Given the description of an element on the screen output the (x, y) to click on. 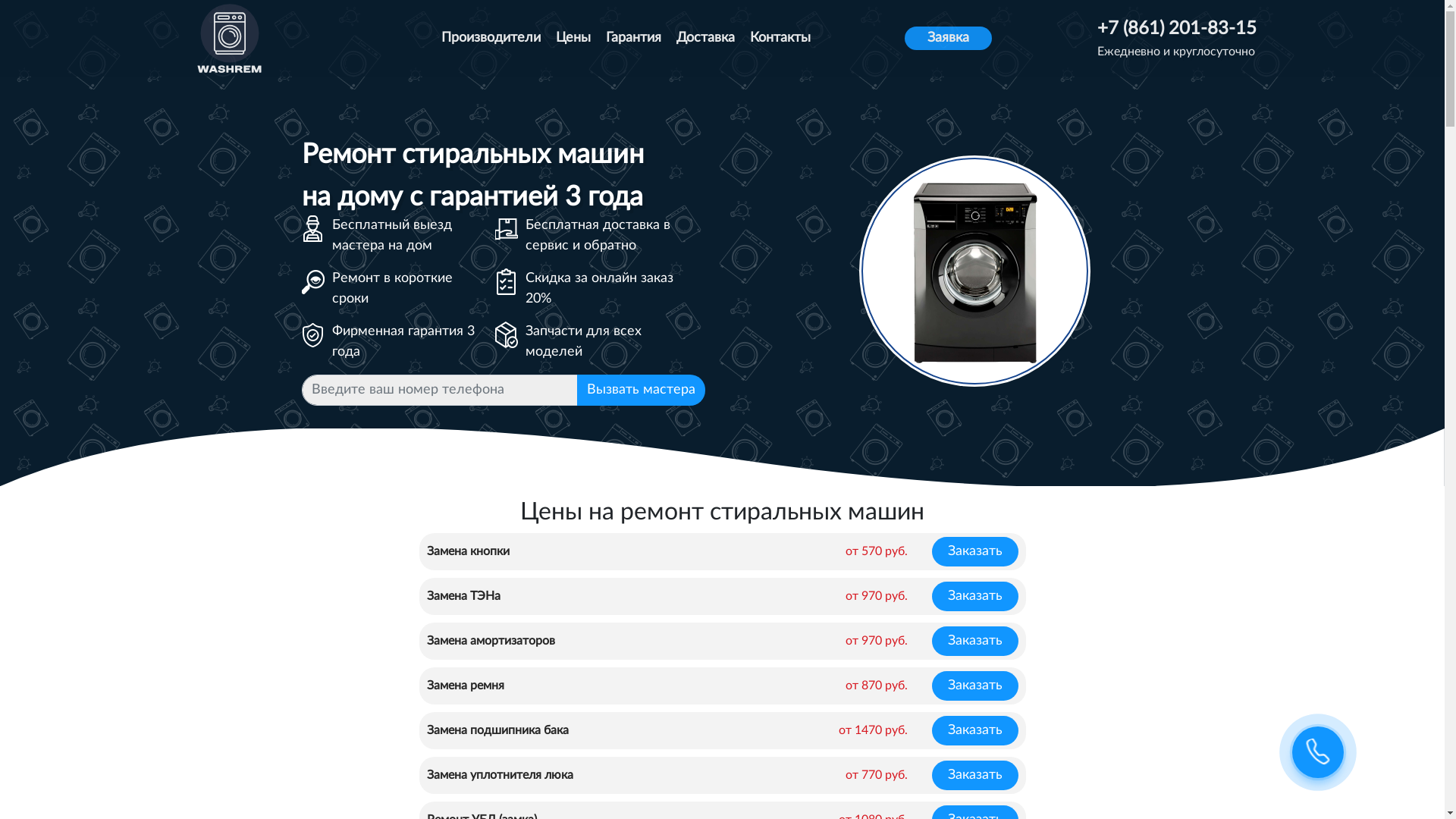
+7 (861) 201-83-15 Element type: text (1176, 28)
